Given the description of an element on the screen output the (x, y) to click on. 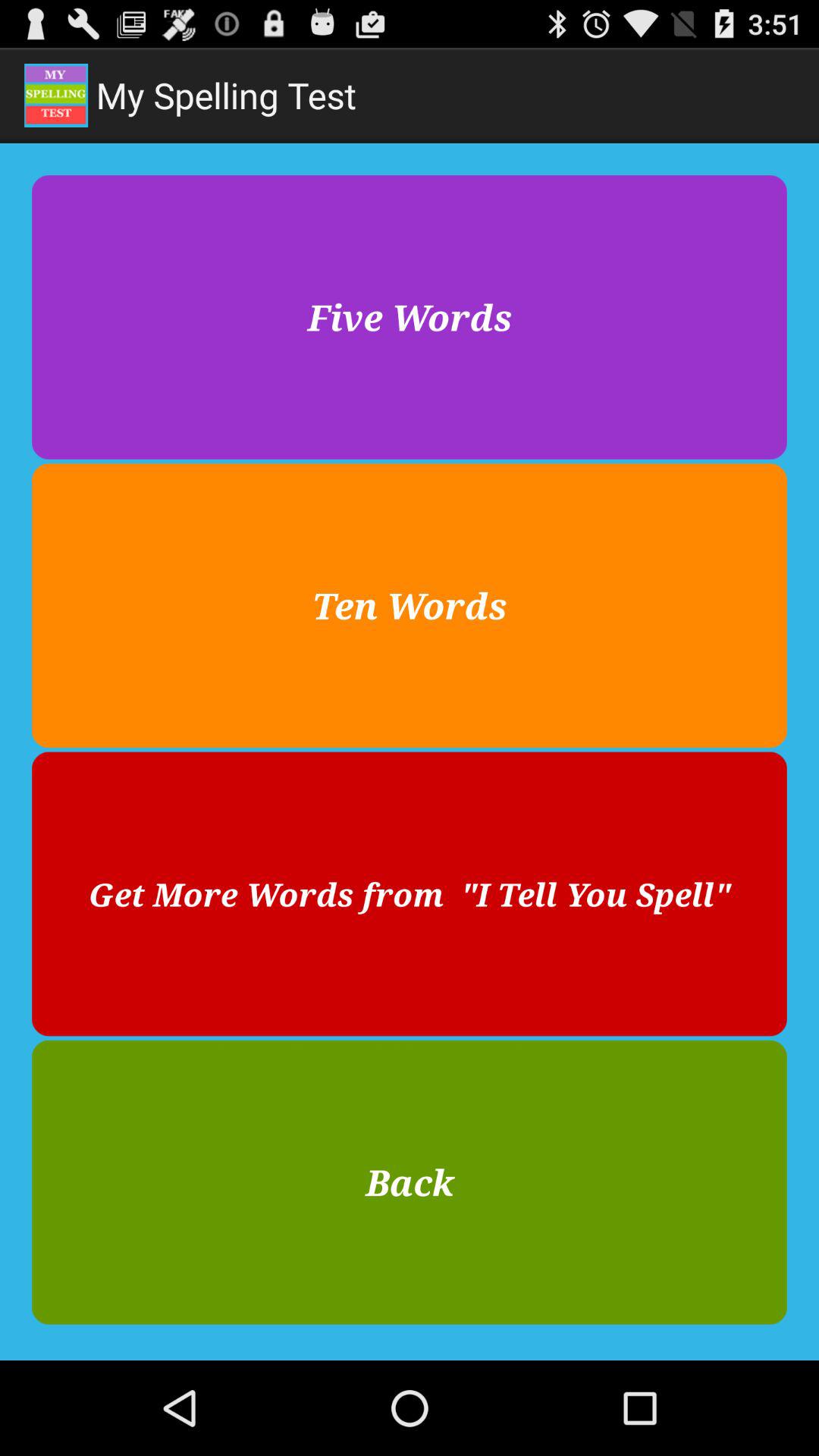
select five words at the top (409, 317)
